Given the description of an element on the screen output the (x, y) to click on. 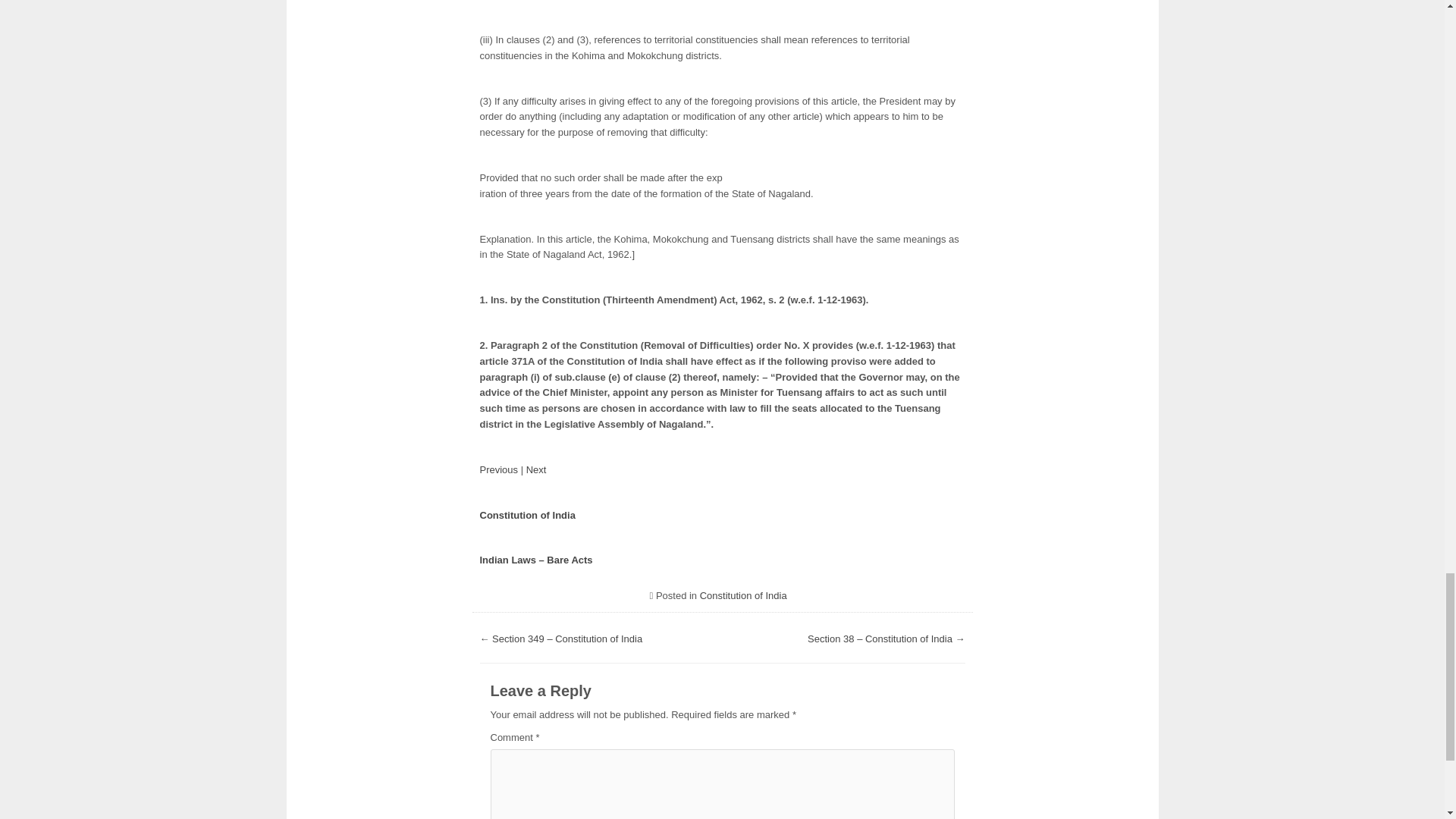
Constitution of India (743, 595)
Next (536, 469)
Previous (498, 469)
Constitution of India (527, 514)
